Given the description of an element on the screen output the (x, y) to click on. 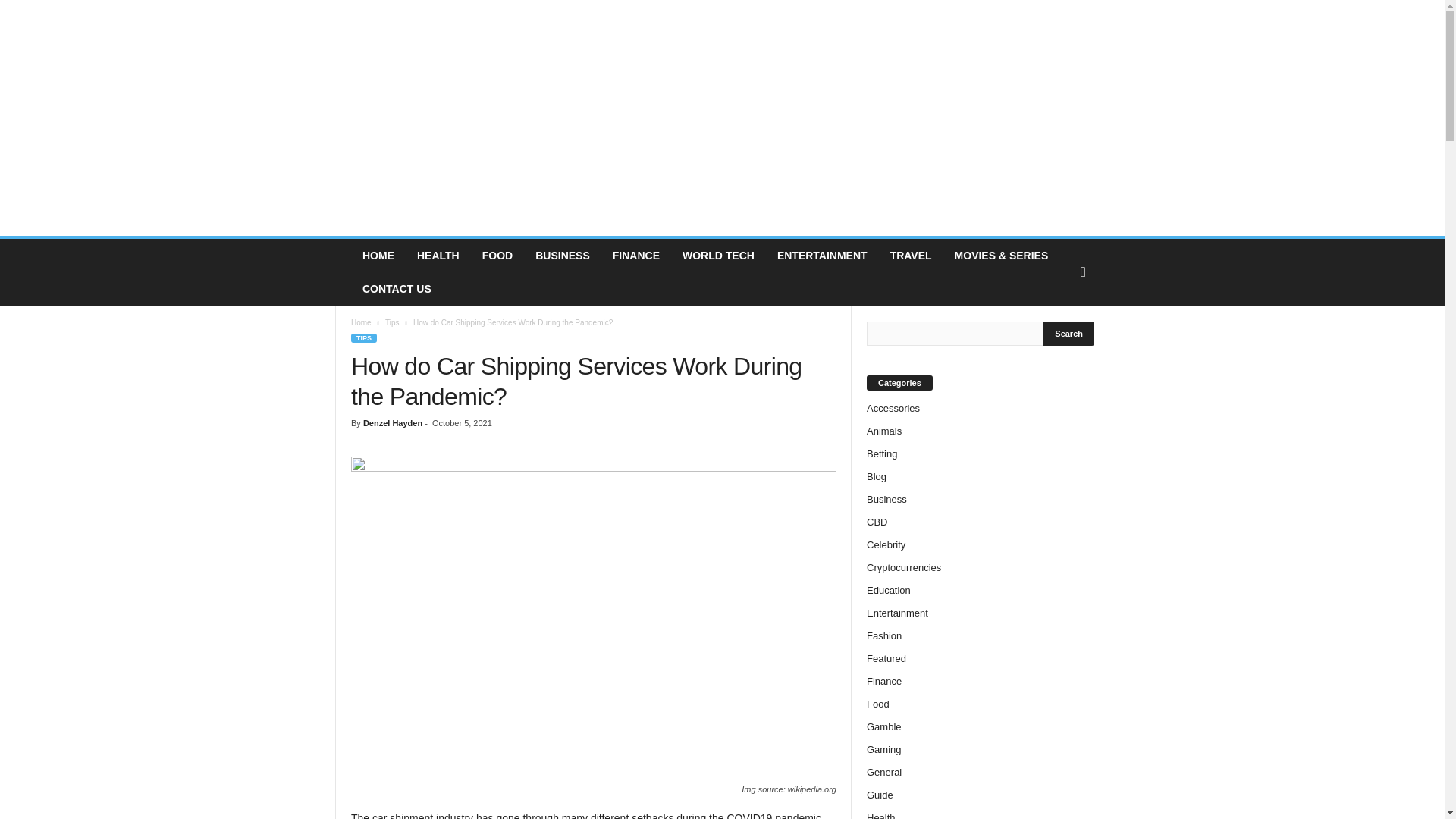
WORLD TECH (718, 255)
BUSINESS (562, 255)
Home (360, 322)
View all posts in Tips (391, 322)
Search (1068, 333)
FOOD (497, 255)
HOME (378, 255)
HEALTH (438, 255)
TRAVEL (911, 255)
